Given the description of an element on the screen output the (x, y) to click on. 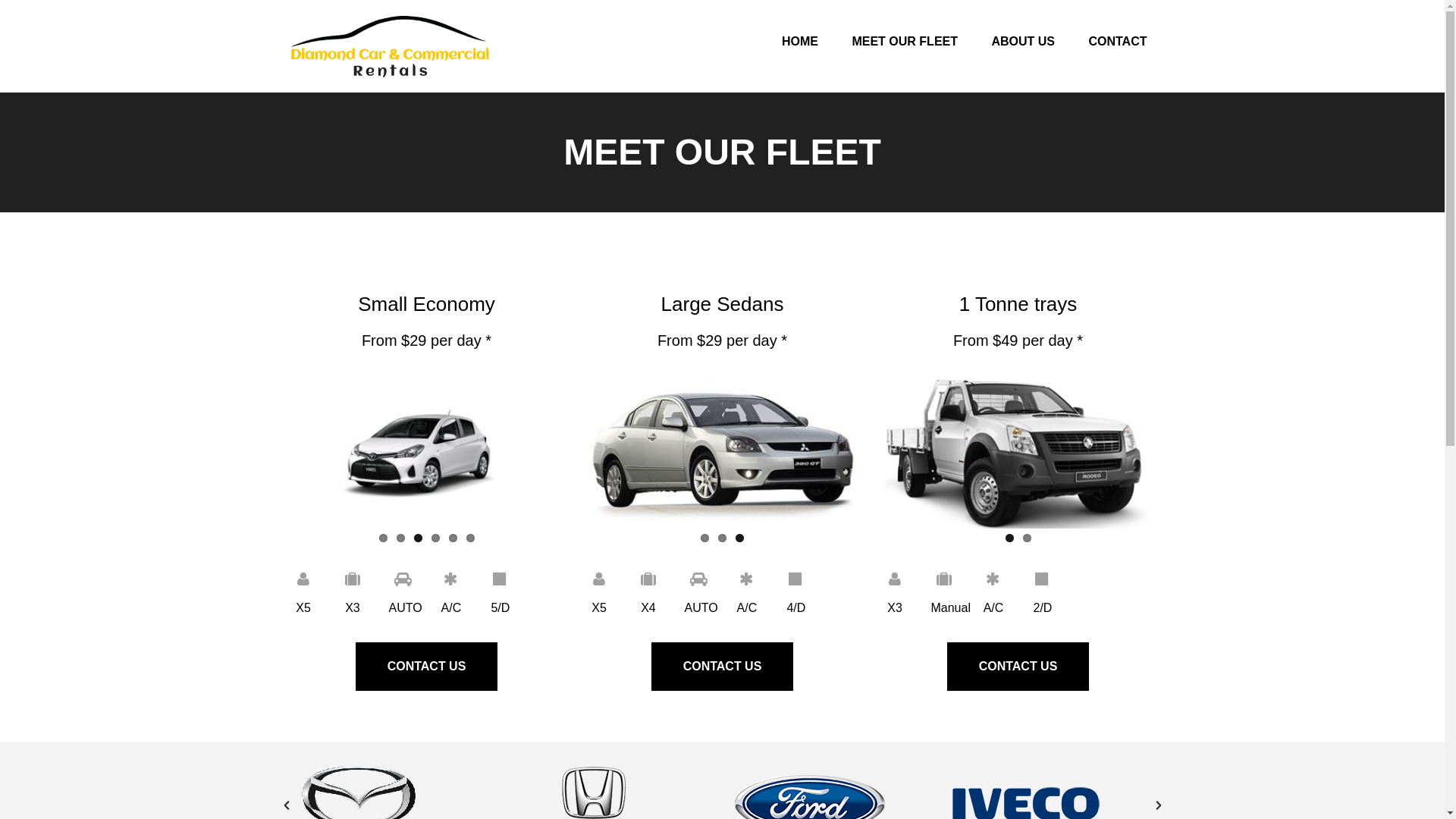
4 Element type: text (434, 537)
Diamond car Rentals Element type: hover (389, 46)
6 Element type: text (469, 537)
1 Element type: text (1009, 537)
png1 Element type: hover (1017, 448)
ABOUT US Element type: text (1022, 31)
2 Element type: text (399, 537)
MEET OUR FLEET Element type: text (904, 31)
3 Element type: text (418, 537)
CONTACT US Element type: text (1018, 666)
CONTACT US Element type: text (426, 666)
2 Element type: text (722, 537)
HOME Element type: text (799, 31)
toyota-yaris-white-back Element type: hover (425, 448)
mitsu-380-silver Element type: hover (721, 448)
5 Element type: text (452, 537)
CONTACT Element type: text (1117, 31)
CONTACT US Element type: text (722, 666)
3 Element type: text (739, 537)
1 Element type: text (383, 537)
1 Element type: text (704, 537)
2 Element type: text (1026, 537)
